Given the description of an element on the screen output the (x, y) to click on. 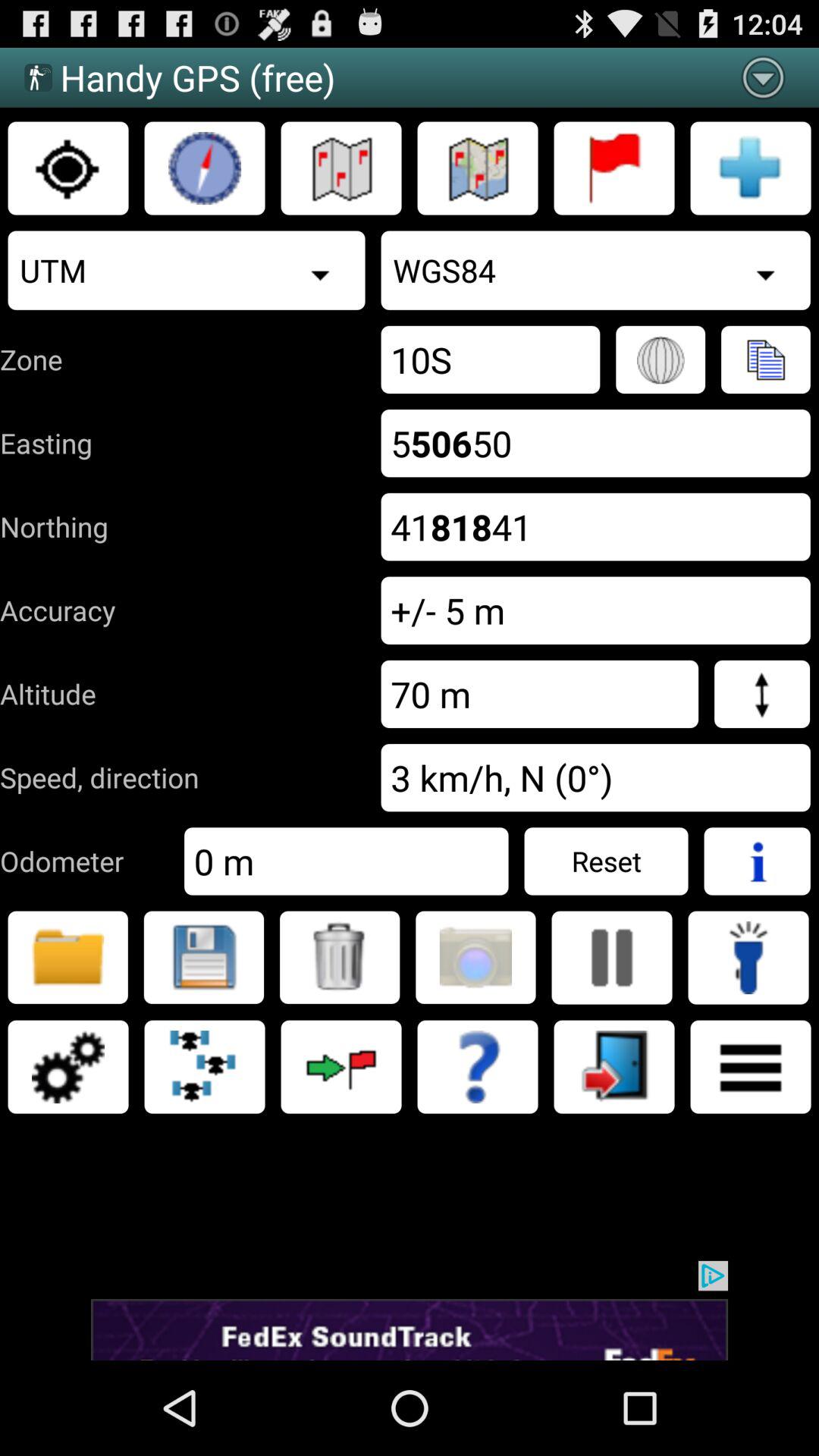
select options (68, 1066)
